Given the description of an element on the screen output the (x, y) to click on. 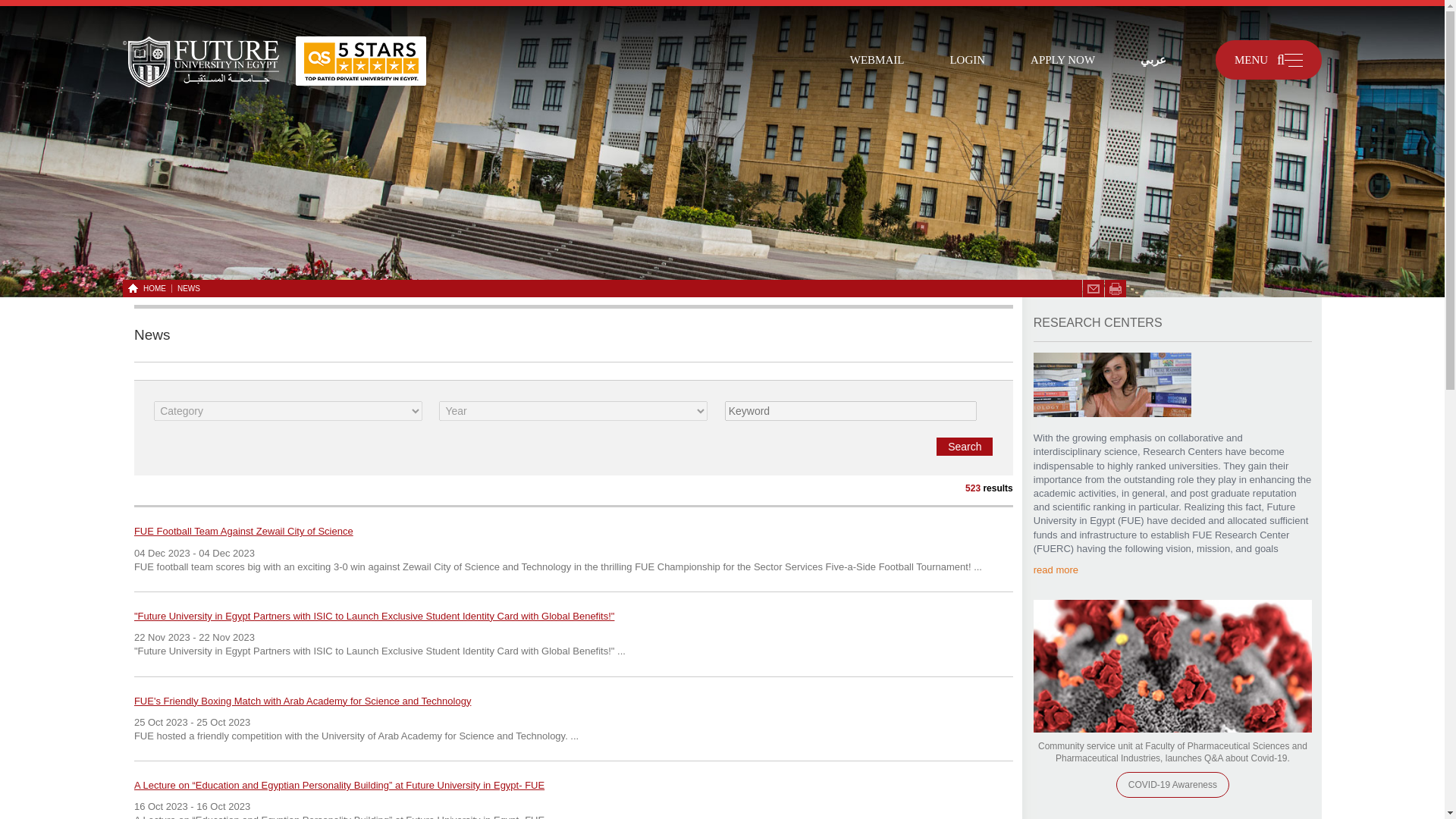
Search (964, 446)
Search (964, 446)
WEBMAIL (877, 59)
LOGIN (966, 59)
APPLY NOW (1062, 59)
MENU (1268, 59)
